Given the description of an element on the screen output the (x, y) to click on. 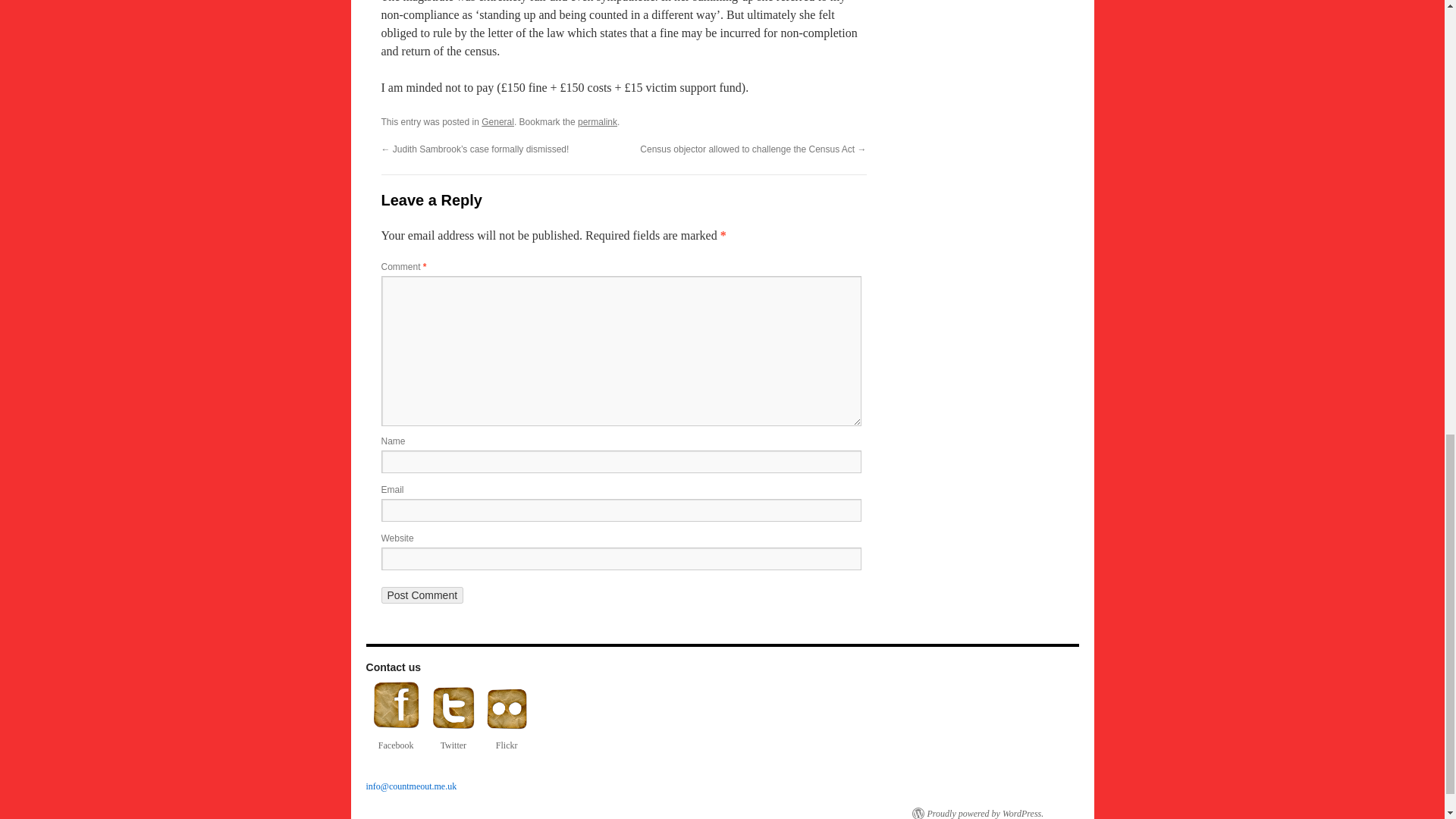
Post Comment (421, 595)
permalink (597, 122)
Post Comment (421, 595)
General (497, 122)
